Given the description of an element on the screen output the (x, y) to click on. 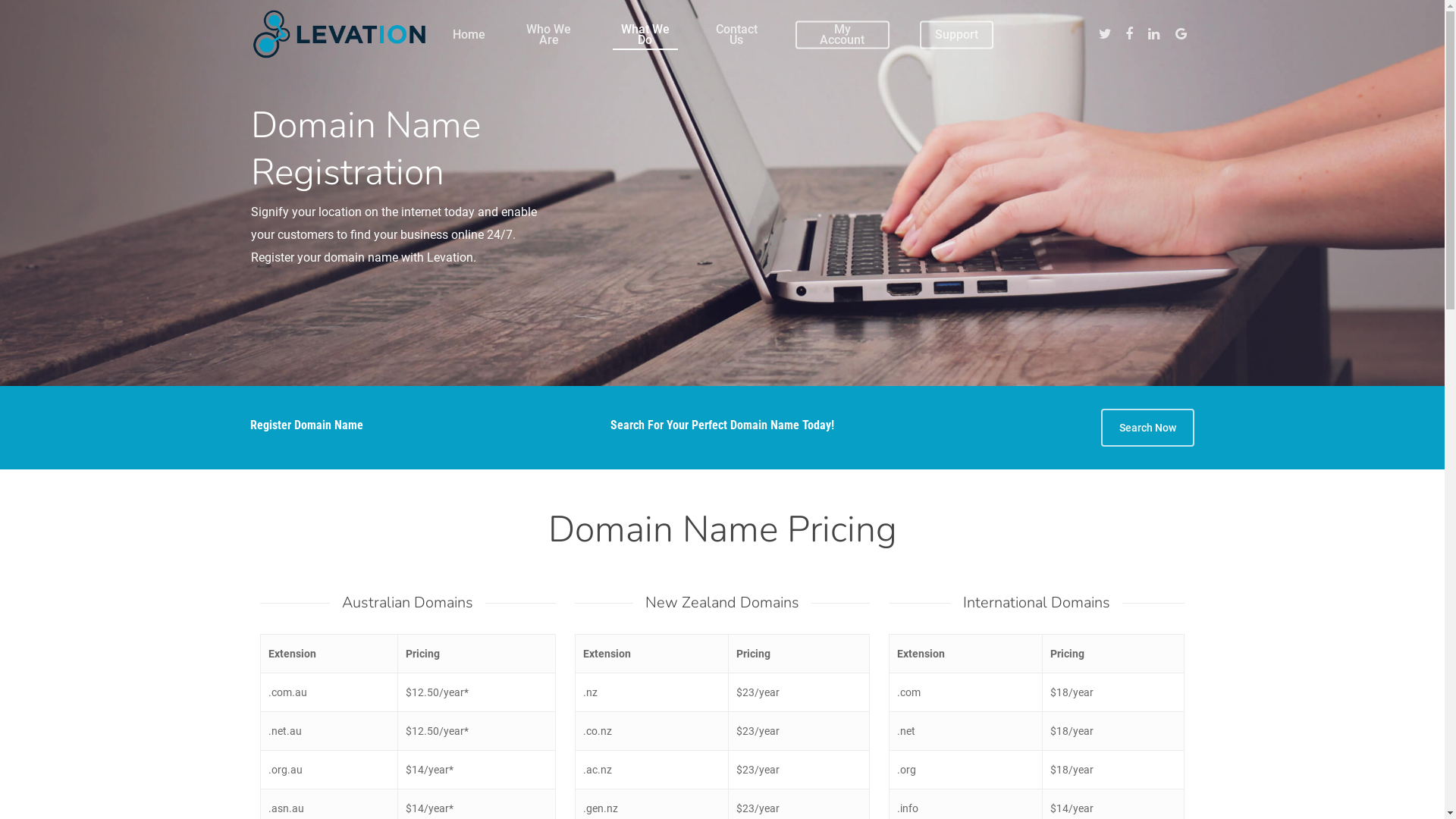
Contact Us Element type: text (736, 34)
Who We Are Element type: text (548, 34)
Home Element type: text (468, 33)
Support Element type: text (956, 33)
What We Do Element type: text (644, 34)
My Account Element type: text (841, 34)
Search Now Element type: text (1147, 427)
